Given the description of an element on the screen output the (x, y) to click on. 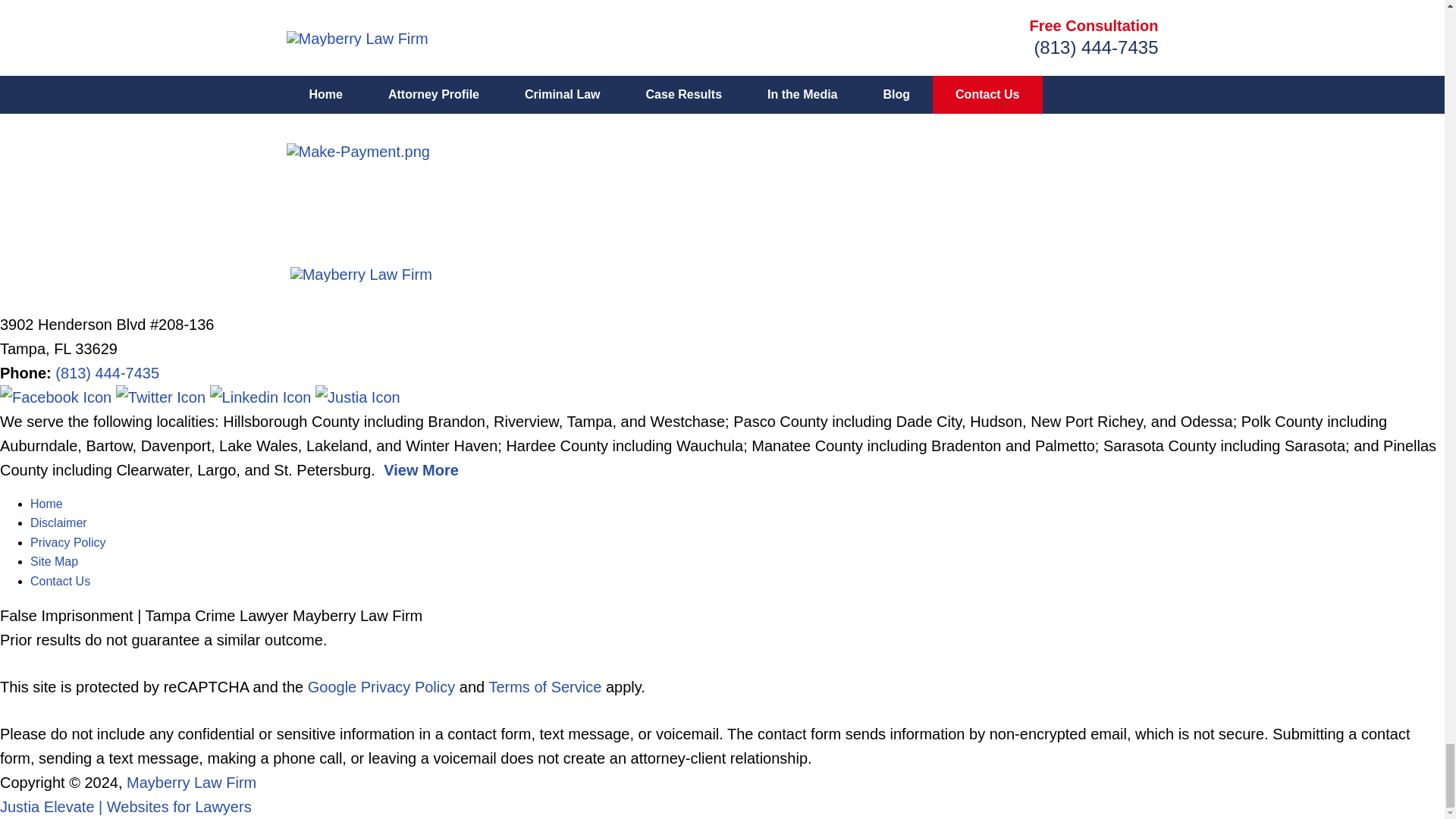
Facebook (58, 397)
Justia (357, 397)
Linkedin (262, 397)
Twitter (162, 397)
